Given the description of an element on the screen output the (x, y) to click on. 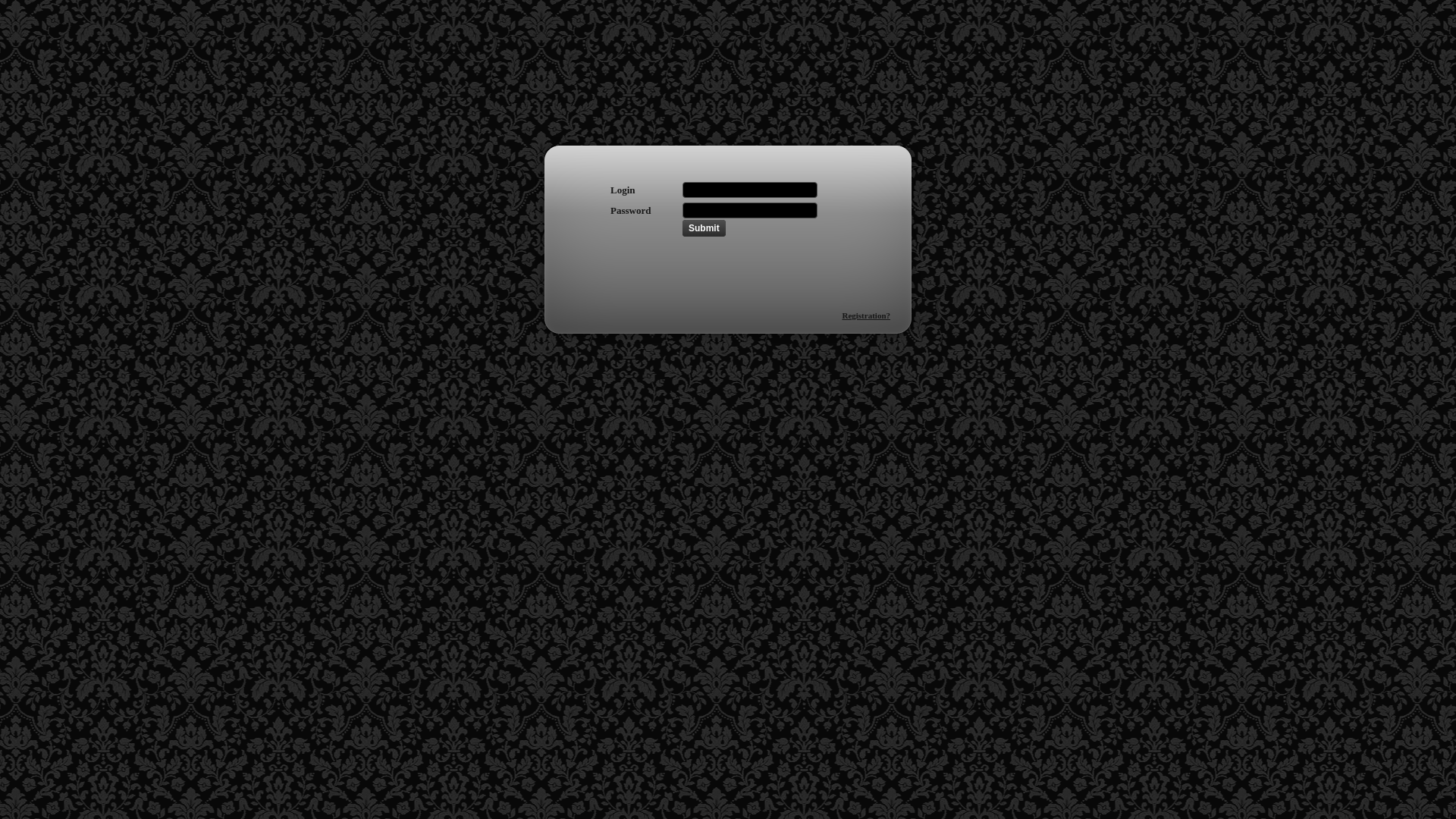
Submit Element type: text (703, 227)
Registration? Element type: text (865, 315)
